Given the description of an element on the screen output the (x, y) to click on. 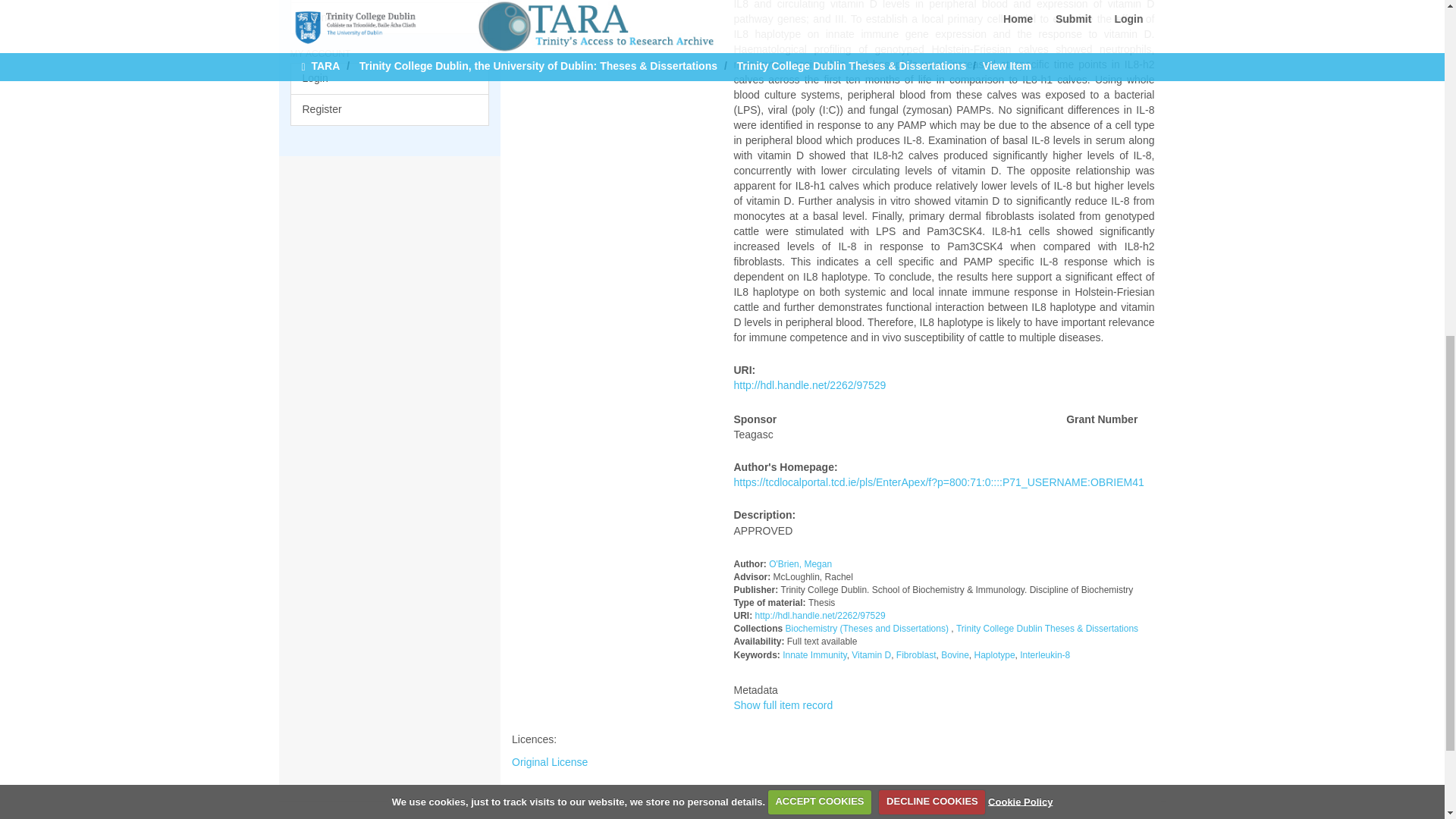
Subjects (389, 1)
Sponsor (389, 18)
Register (389, 110)
Login (389, 79)
